Given the description of an element on the screen output the (x, y) to click on. 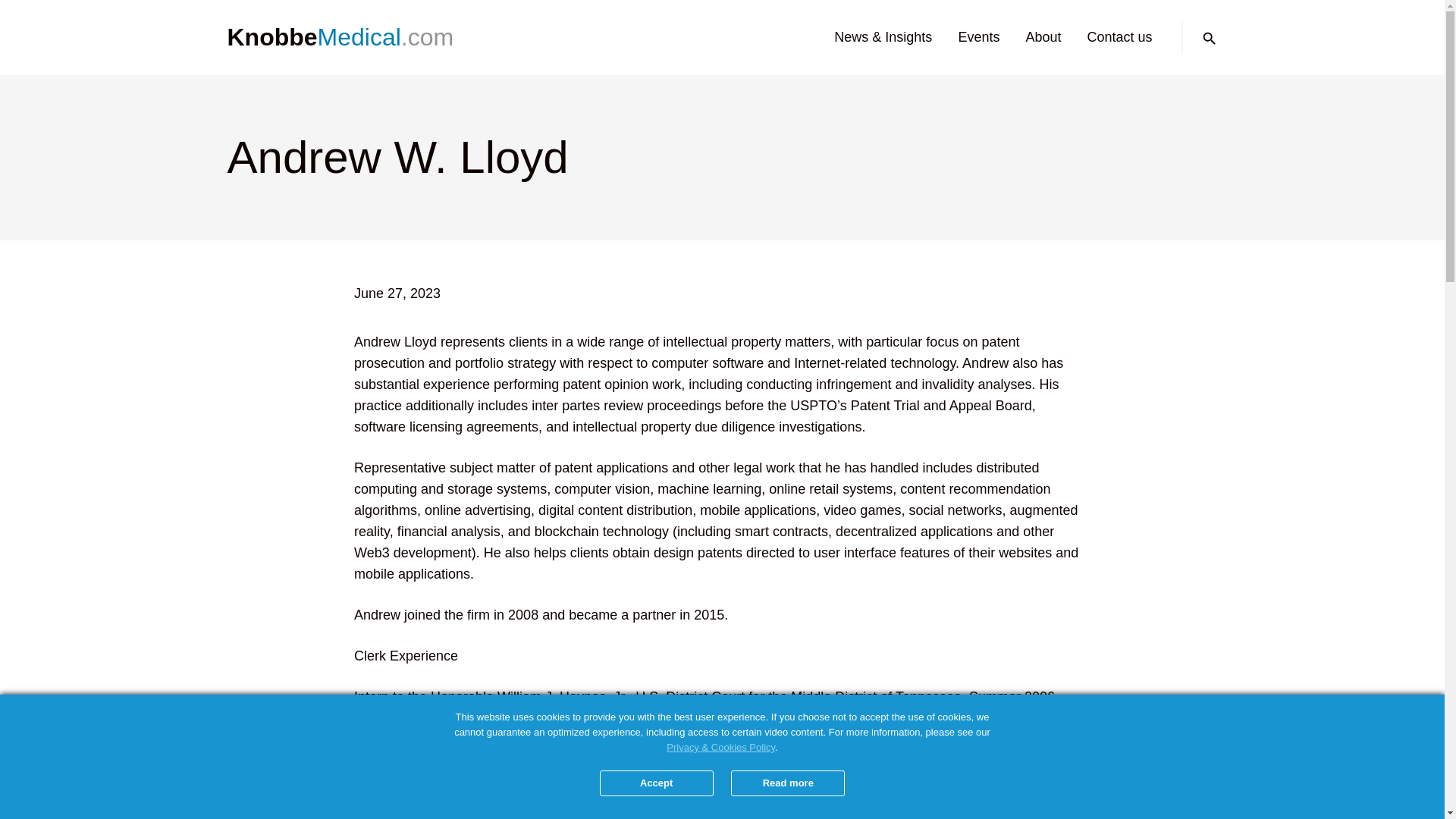
Contact us (1118, 37)
Events (978, 37)
About (1043, 37)
KnobbeMedical.com (346, 37)
